Given the description of an element on the screen output the (x, y) to click on. 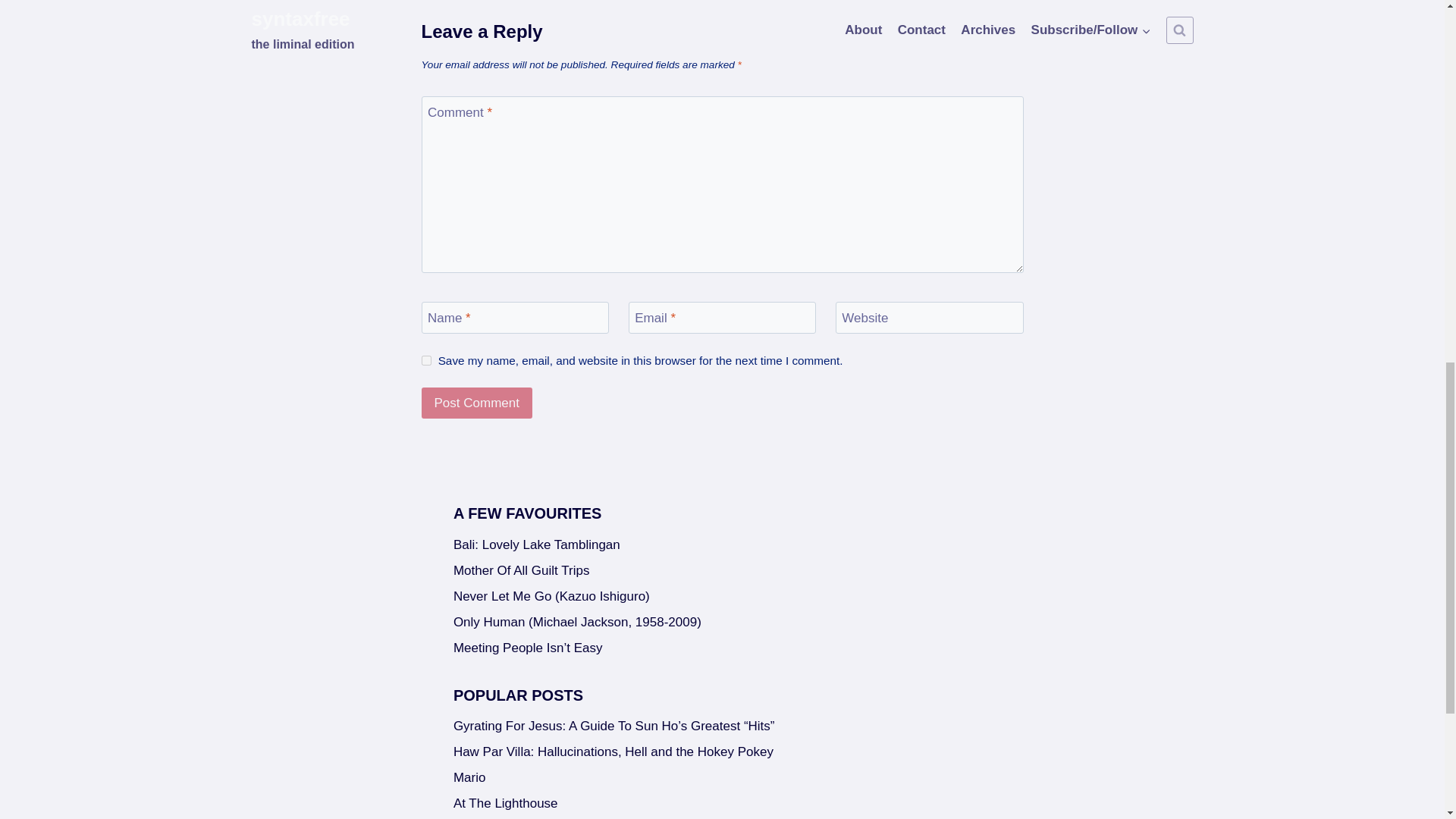
At The Lighthouse (721, 804)
Mother Of All Guilt Trips (721, 570)
Post Comment (477, 402)
Mario (721, 778)
Post Comment (477, 402)
Bali: Lovely Lake Tamblingan (721, 544)
Haw Par Villa: Hallucinations, Hell and the Hokey Pokey (721, 752)
yes (426, 360)
